Given the description of an element on the screen output the (x, y) to click on. 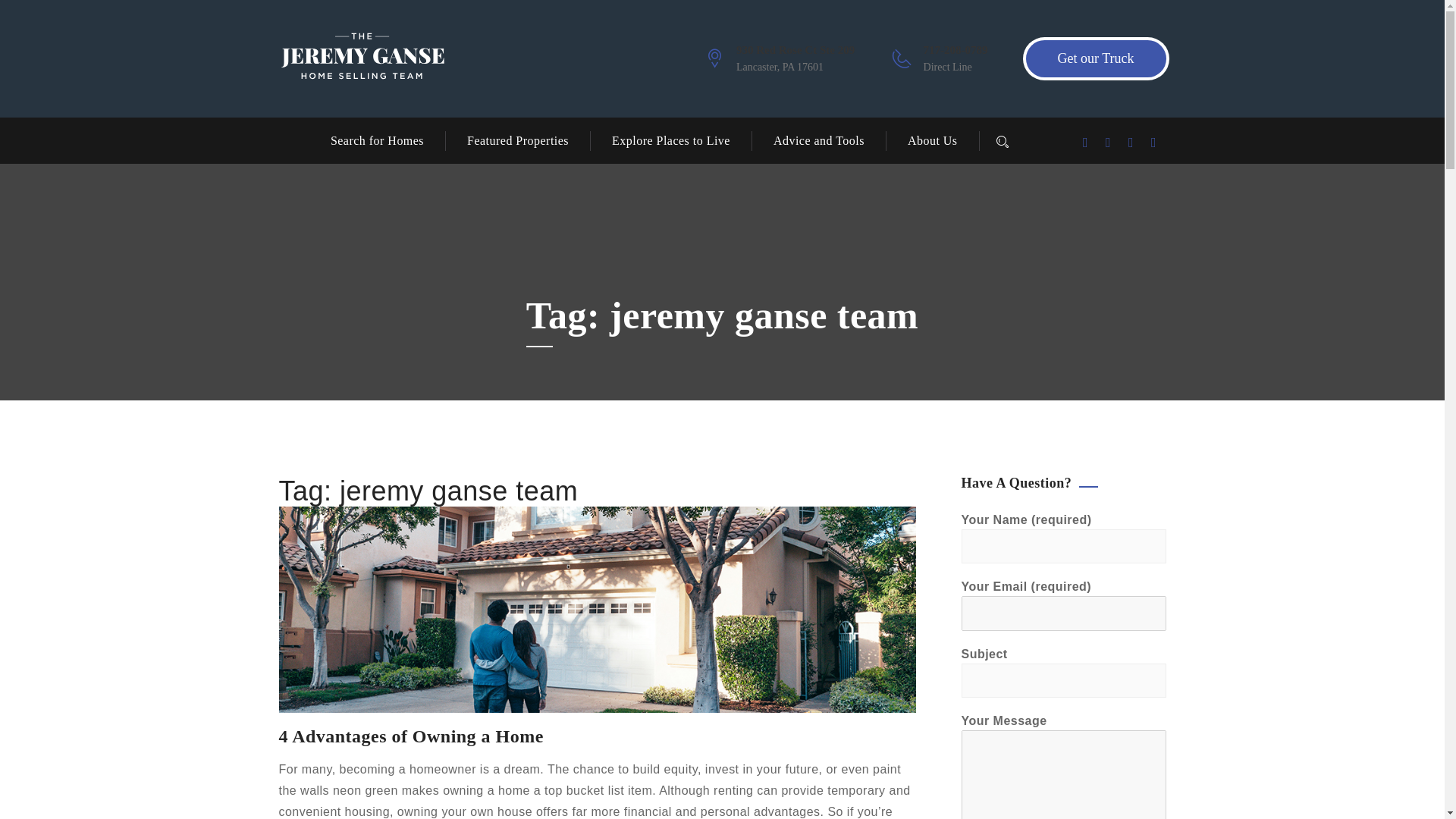
Get our Truck (1095, 58)
Featured Properties (517, 140)
Explore Places to Live (670, 140)
Advice and Tools (818, 140)
Search for Homes (387, 140)
About Us (931, 140)
Search for Homes (387, 140)
Explore Places to Live (670, 140)
Advice and Tools (818, 140)
About Us (931, 140)
Featured Properties (517, 140)
Creating Exceptional Client Experiences (362, 58)
